Given the description of an element on the screen output the (x, y) to click on. 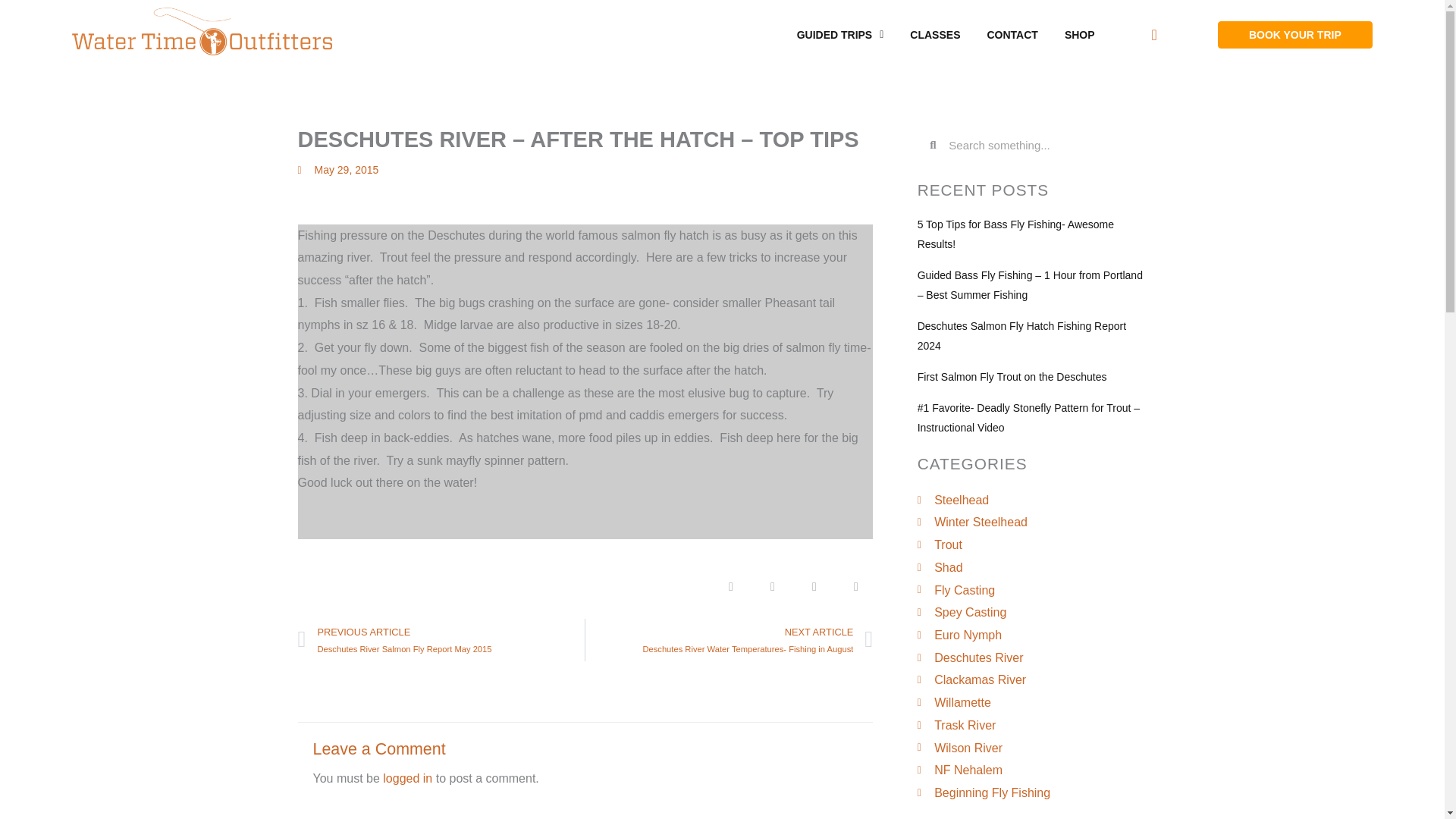
Spey Casting (1032, 612)
BOOK YOUR TRIP (1295, 34)
CART (1154, 34)
Deschutes River (1032, 658)
GUIDED TRIPS (839, 34)
5 Top Tips for Bass Fly Fishing- Awesome Results! (1015, 234)
Shad (1032, 567)
logged in (407, 778)
CLASSES (934, 34)
